Given the description of an element on the screen output the (x, y) to click on. 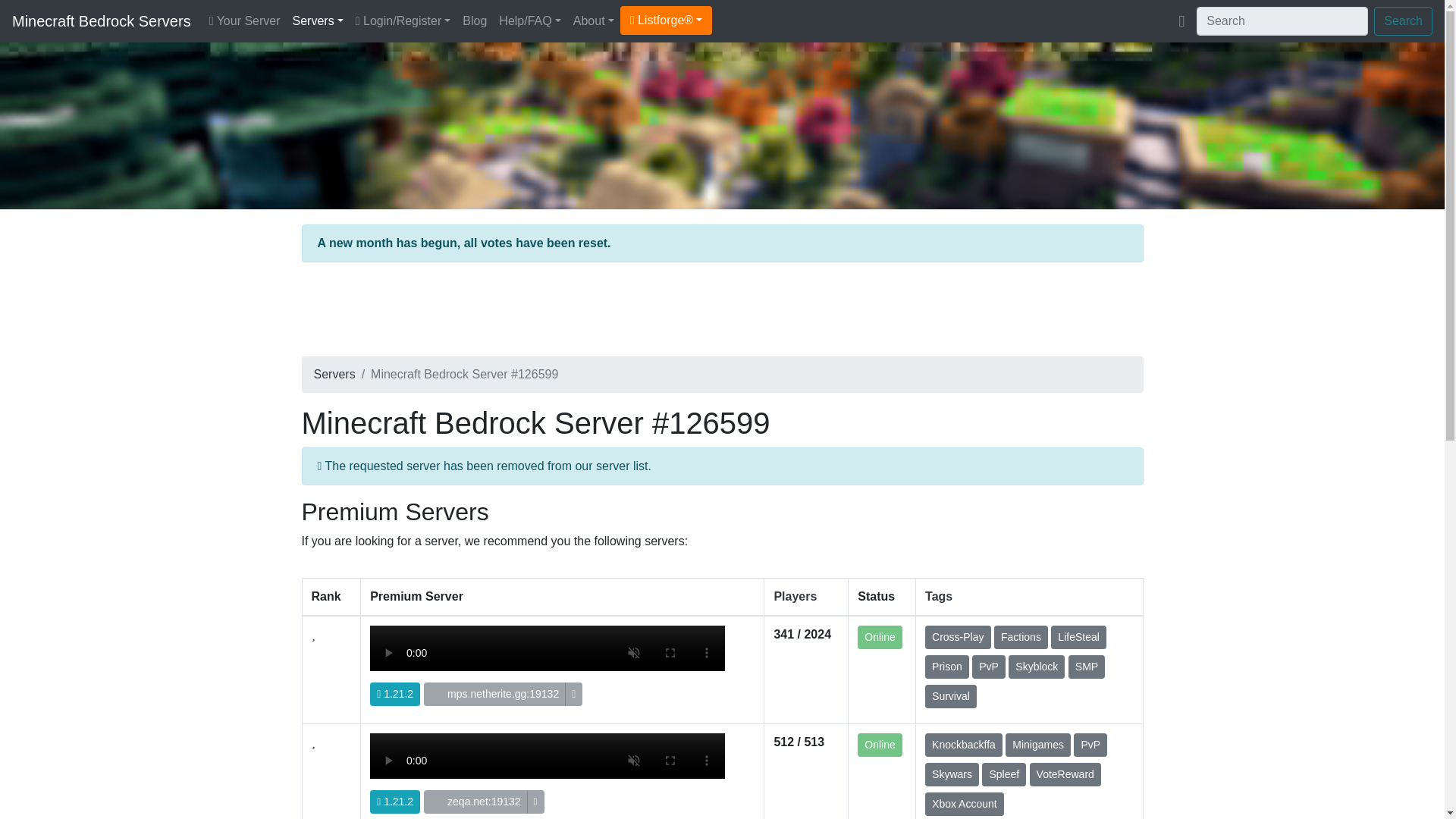
Zeqa Practice (547, 774)
Servers (317, 20)
About (593, 20)
United States of America (437, 693)
Your Server (244, 20)
United States of America (437, 801)
Minecraft Bedrock Servers (100, 20)
Blog (475, 20)
Netherite (547, 666)
